Given the description of an element on the screen output the (x, y) to click on. 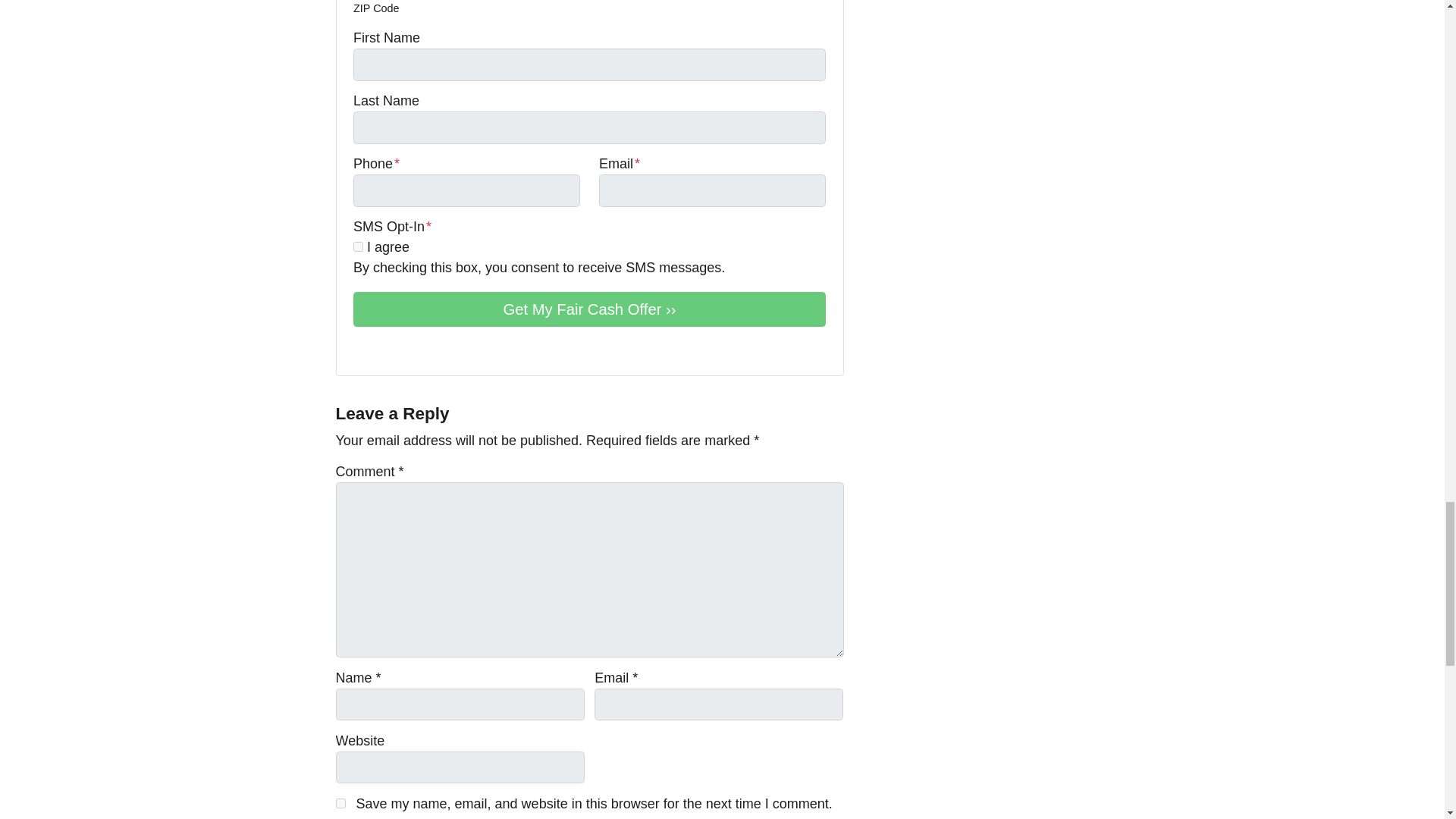
YouTube (383, 349)
Instagram (425, 349)
yes (339, 803)
LinkedIn (404, 349)
Facebook (362, 349)
1 (357, 246)
